Given the description of an element on the screen output the (x, y) to click on. 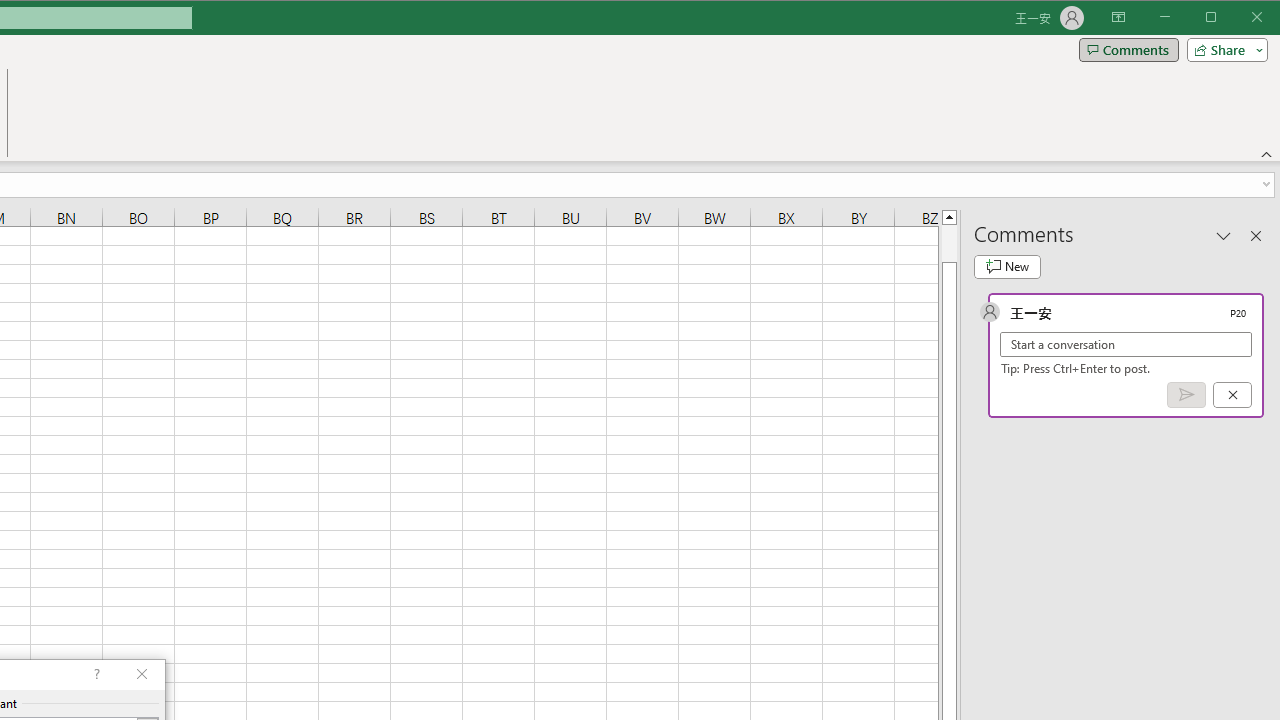
Close pane (1256, 235)
Task Pane Options (1224, 235)
New comment (1007, 266)
Page up (948, 243)
Maximize (1239, 18)
Post comment (Ctrl + Enter) (1186, 395)
Cancel (1232, 395)
